Given the description of an element on the screen output the (x, y) to click on. 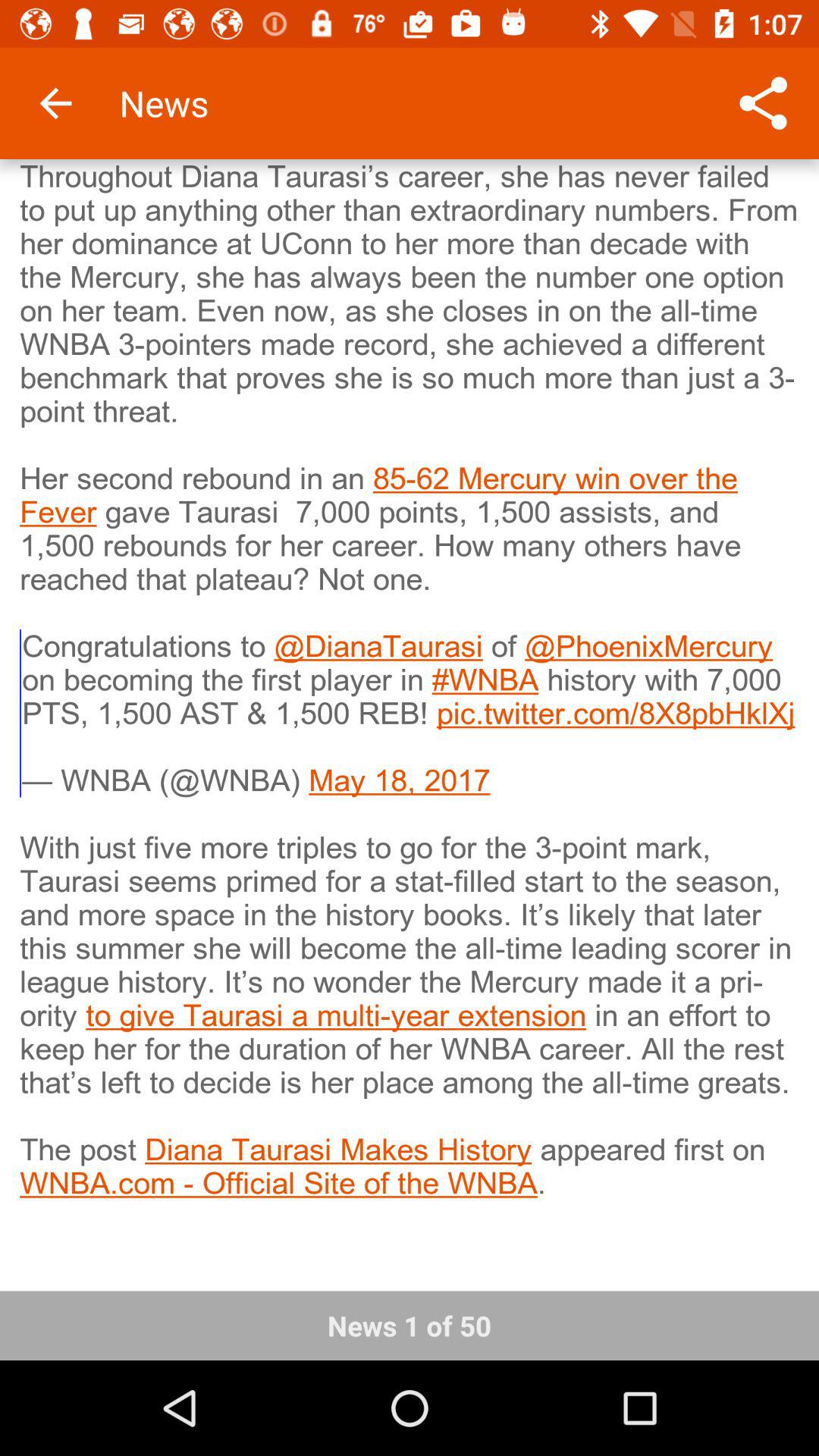
jump until throughout diana taurasi item (409, 715)
